Given the description of an element on the screen output the (x, y) to click on. 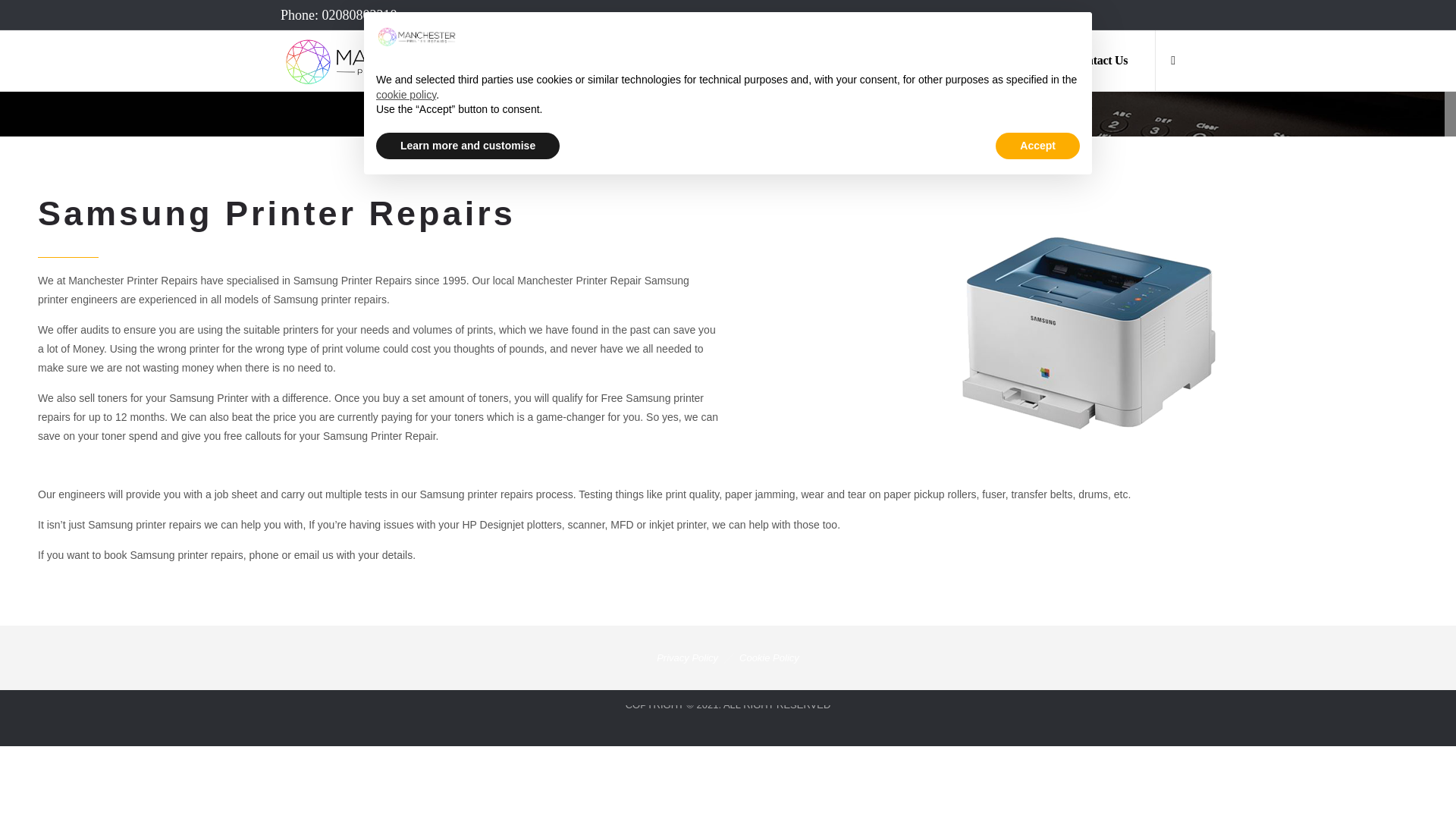
Cookie Policy  (769, 657)
Search (1080, 413)
Privacy Policy  (686, 657)
Site logo (382, 60)
